Given the description of an element on the screen output the (x, y) to click on. 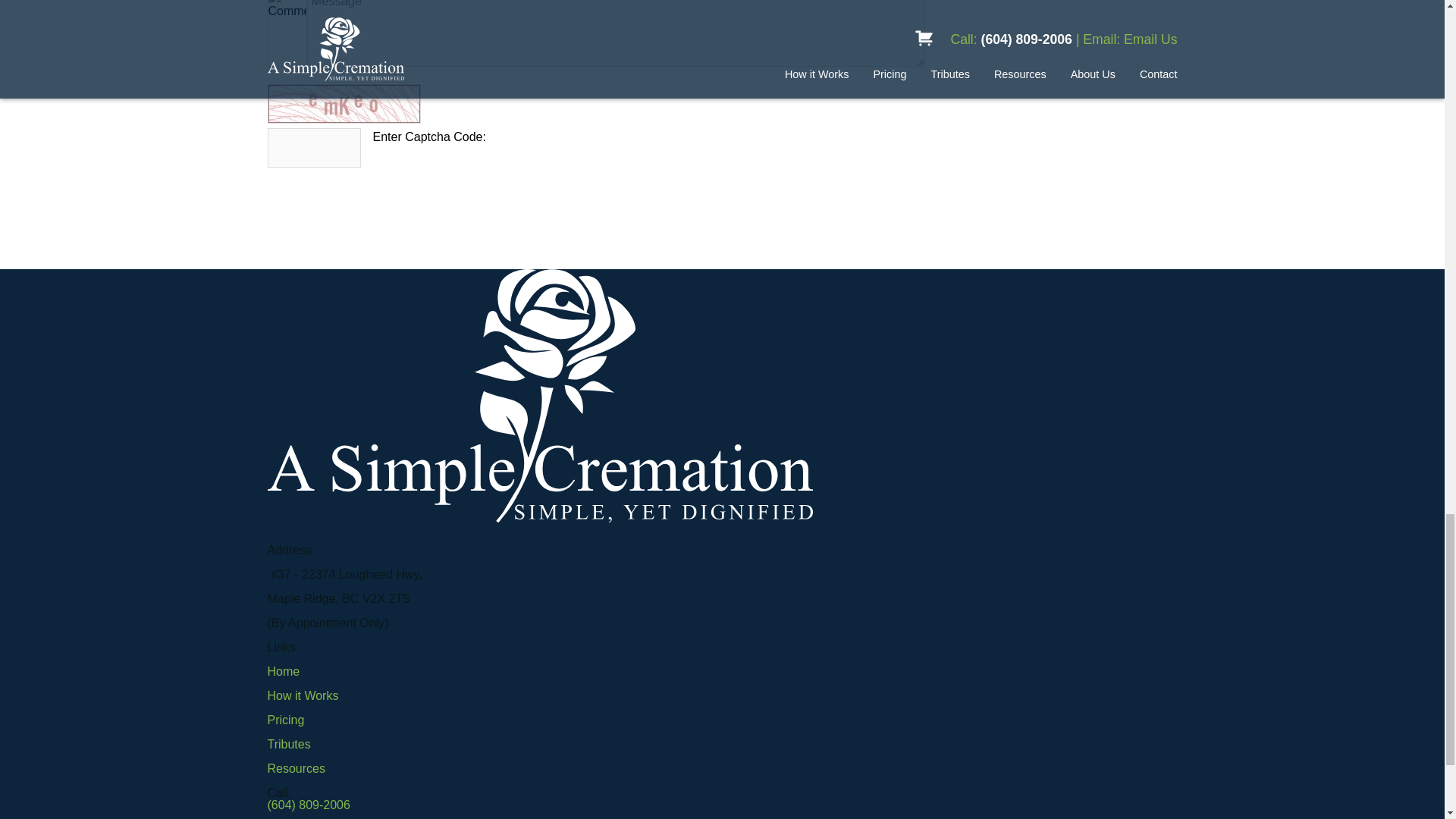
Pricing (285, 719)
Resources (295, 768)
Home (282, 671)
How it Works (301, 695)
Tributes (288, 744)
